Given the description of an element on the screen output the (x, y) to click on. 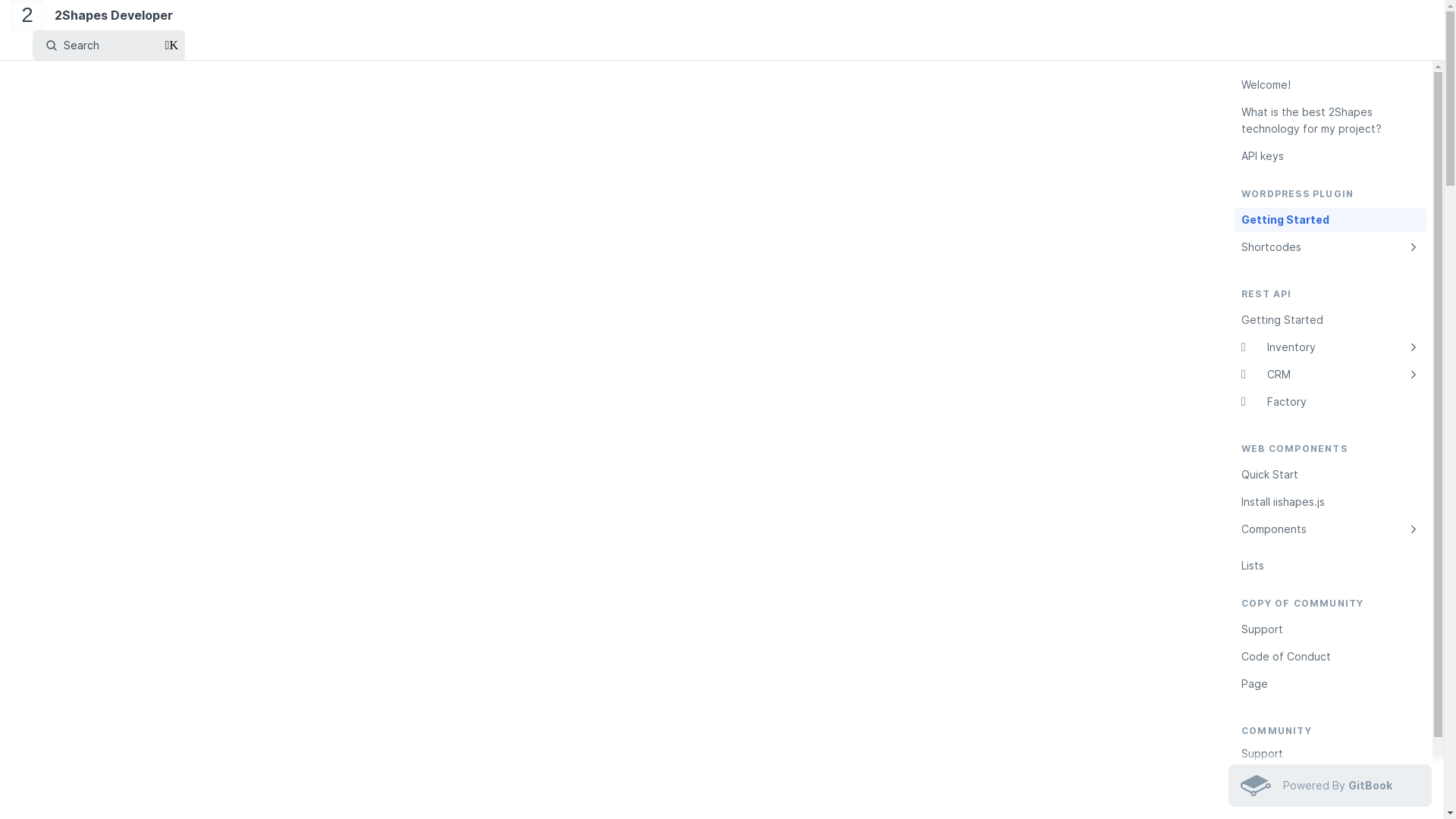
Welcome! Element type: text (1330, 84)
Code of Conduct Element type: text (1330, 780)
Quick Start Element type: text (1330, 474)
Page Element type: text (1330, 683)
2
2Shapes Developer Element type: text (95, 15)
Install iishapes.js Element type: text (1330, 501)
Components Element type: text (1330, 529)
Getting Started Element type: text (1330, 319)
Powered By GitBook Element type: text (1329, 785)
Shortcodes Element type: text (1330, 247)
Code of Conduct Element type: text (1330, 656)
Support Element type: text (1330, 629)
API keys Element type: text (1330, 156)
Support Element type: text (1330, 753)
Lists Element type: text (1330, 565)
Getting Started Element type: text (1330, 219)
What is the best 2Shapes technology for my project? Element type: text (1330, 120)
